Given the description of an element on the screen output the (x, y) to click on. 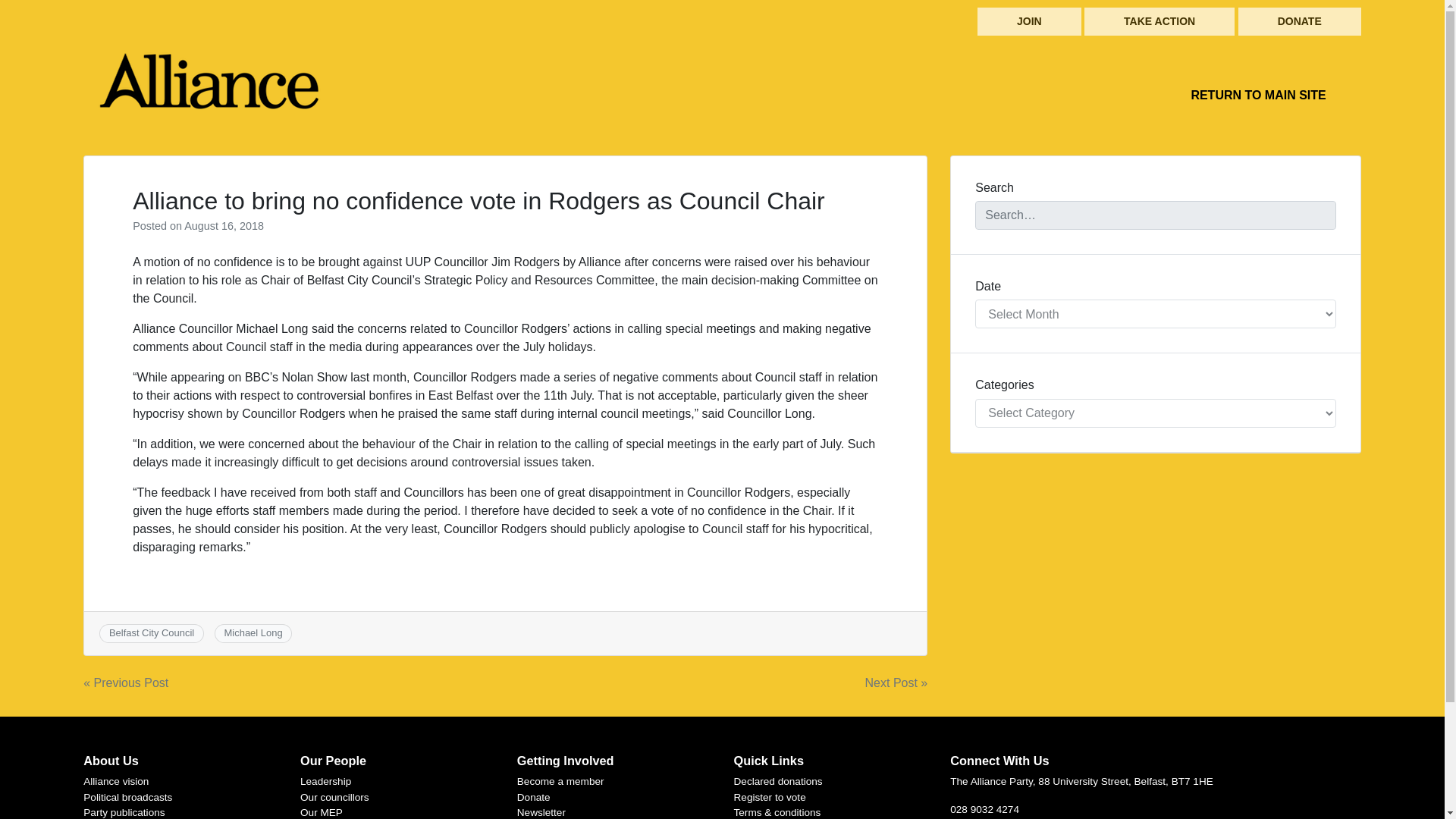
August 16, 2018 (223, 225)
RETURN TO MAIN SITE (1257, 95)
Michael Long (253, 632)
Leadership (324, 781)
Our MEP (320, 812)
JOIN (1028, 21)
Declared donations (777, 781)
Donate (533, 797)
Our councillors (334, 797)
Register to vote (769, 797)
